Given the description of an element on the screen output the (x, y) to click on. 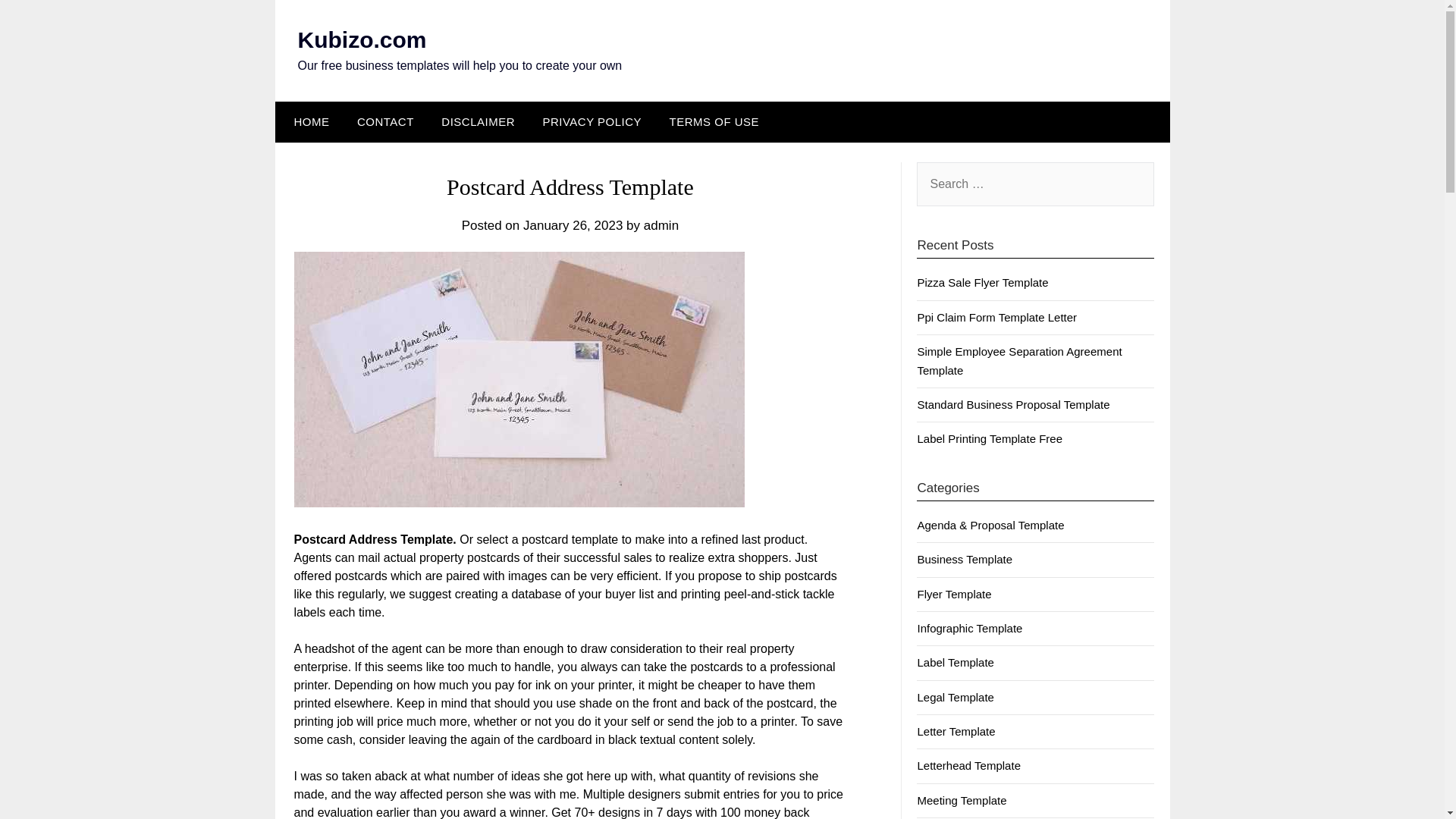
Ppi Claim Form Template Letter (997, 317)
Letter Template (955, 730)
TERMS OF USE (714, 121)
CONTACT (385, 121)
Label Template (954, 662)
Business Template (964, 558)
Simple Employee Separation Agreement Template (1019, 359)
admin (660, 225)
Kubizo.com (361, 39)
Letterhead Template (968, 765)
January 26, 2023 (572, 225)
PRIVACY POLICY (591, 121)
Label Printing Template Free (989, 438)
Legal Template (954, 697)
HOME (307, 121)
